Given the description of an element on the screen output the (x, y) to click on. 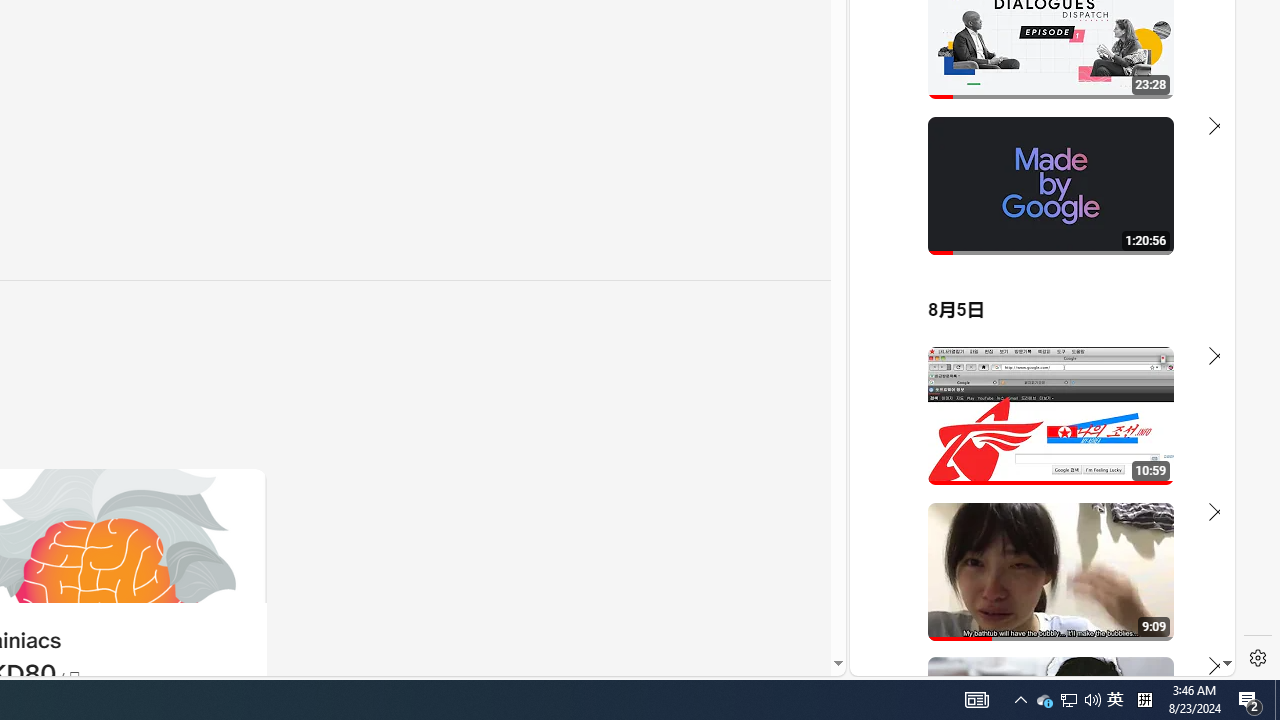
Class: dict_pnIcon rms_img (1028, 660)
US[ju] (917, 660)
you (1034, 609)
YouTube - YouTube (1034, 266)
